Given the description of an element on the screen output the (x, y) to click on. 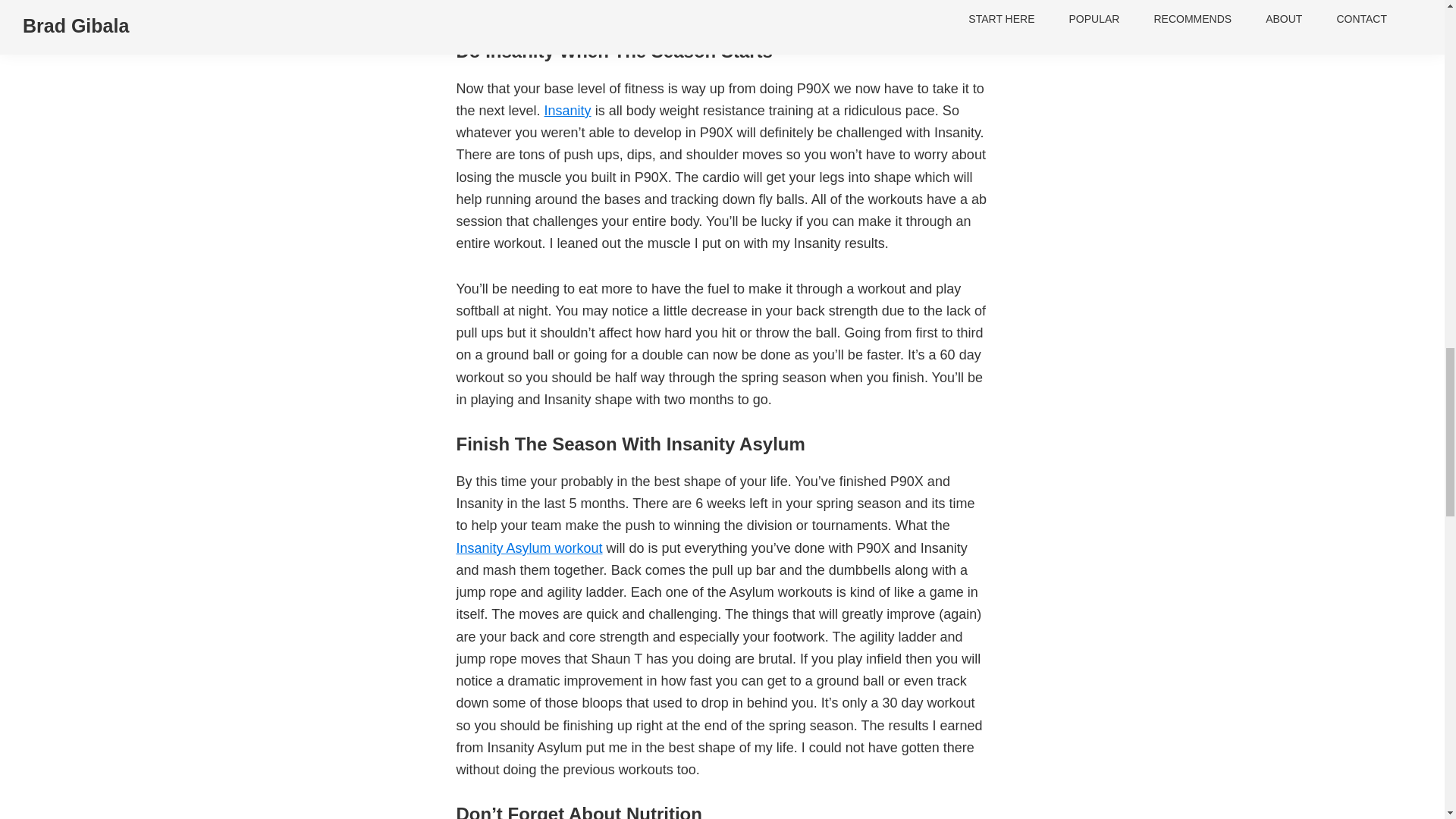
Insanity Asylum Workout (529, 548)
Insanity Asylum workout (529, 548)
Insanity (567, 110)
Insanity (567, 110)
